Given the description of an element on the screen output the (x, y) to click on. 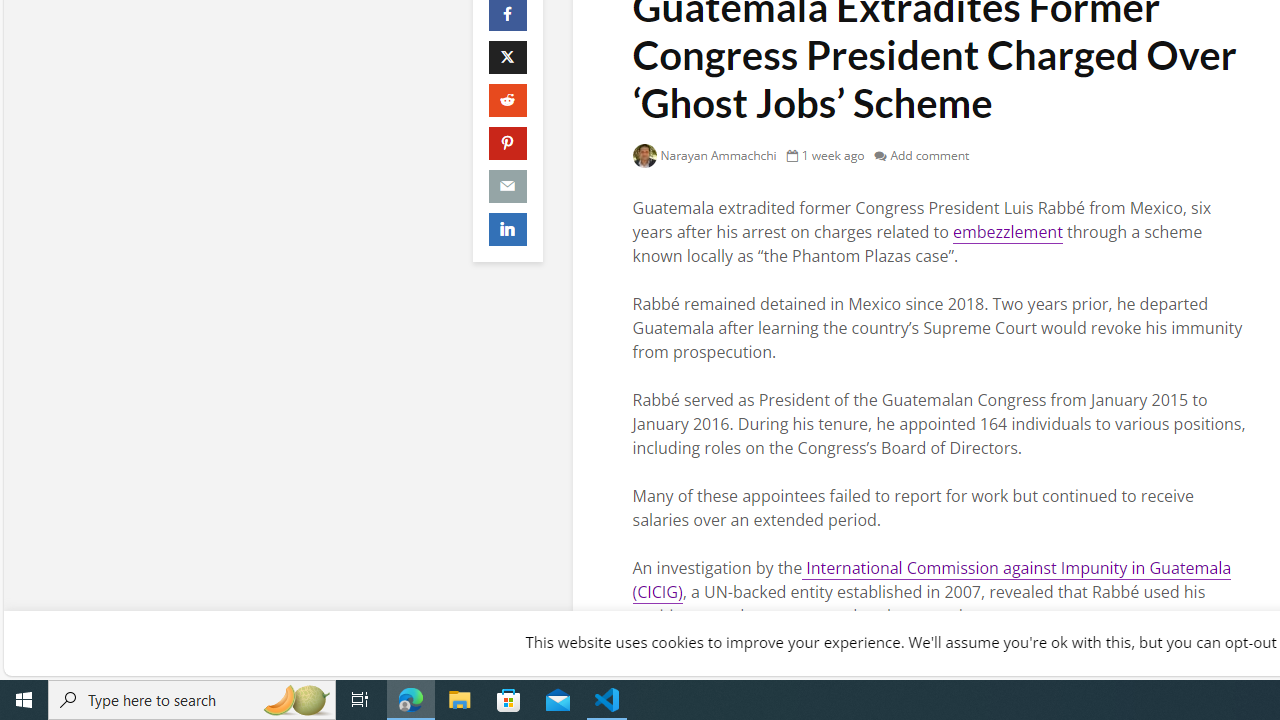
embezzlement (1007, 232)
Narayan Ammachchi (704, 155)
